Given the description of an element on the screen output the (x, y) to click on. 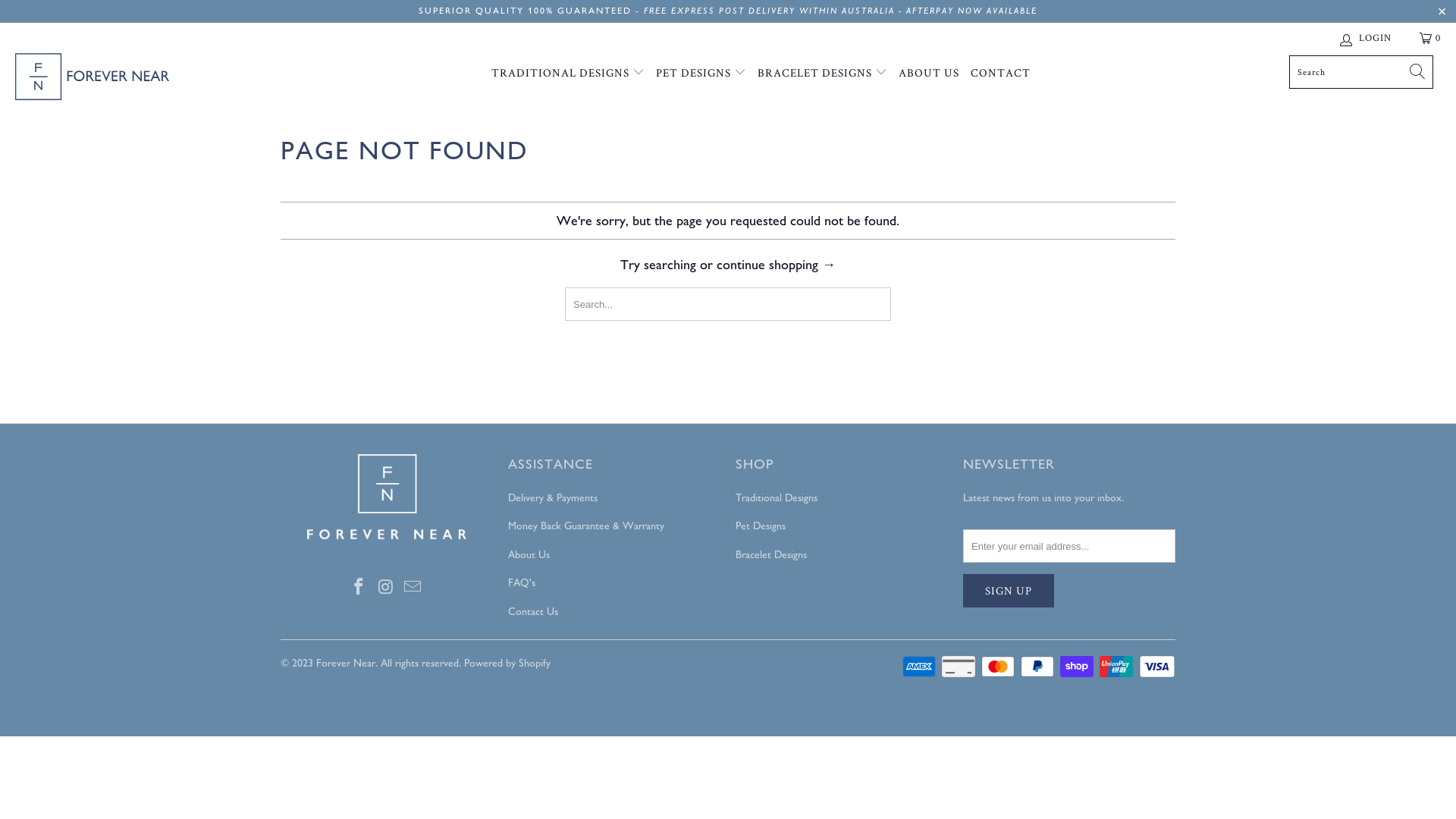
Delivery & Payments Element type: text (552, 497)
Sign Up Element type: text (1008, 590)
Forever Near Element type: text (345, 662)
ABOUT US Element type: text (928, 73)
Forever Near on Facebook Element type: hover (358, 587)
BRACELET DESIGNS Element type: text (822, 73)
Traditional Designs Element type: text (776, 497)
Forever Near Element type: hover (123, 79)
LOGIN Element type: text (1365, 37)
Email Forever Near Element type: hover (412, 587)
Powered by Shopify Element type: text (507, 662)
Pet Designs Element type: text (760, 525)
Forever Near on Instagram Element type: hover (385, 587)
Money Back Guarantee & Warranty Element type: text (586, 525)
About Us Element type: text (528, 554)
PET DESIGNS Element type: text (700, 73)
Bracelet Designs Element type: text (770, 554)
FAQ's Element type: text (521, 582)
Contact Us Element type: text (533, 611)
CONTACT Element type: text (1000, 73)
TRADITIONAL DESIGNS Element type: text (567, 73)
